Given the description of an element on the screen output the (x, y) to click on. 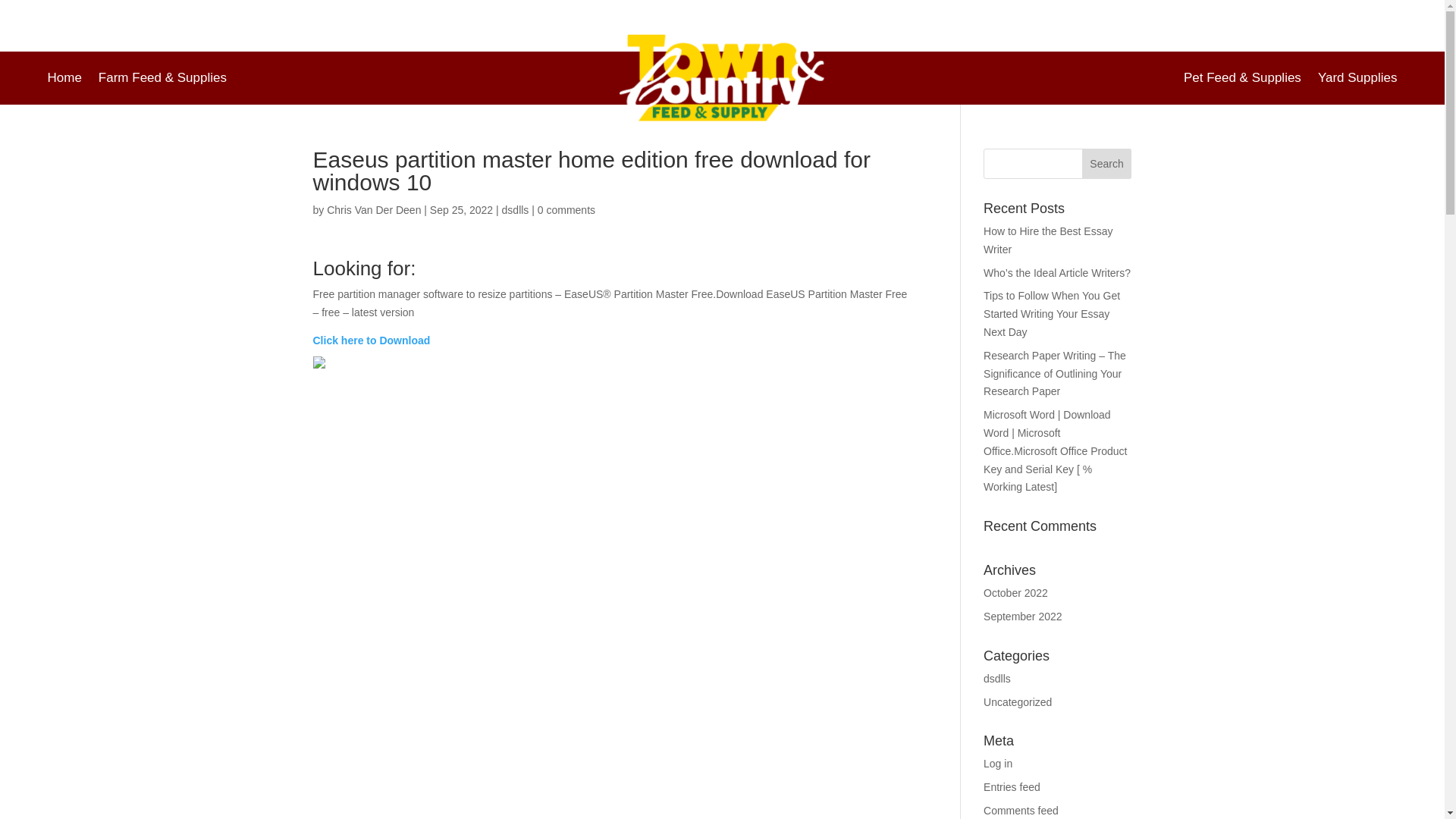
0 comments (566, 209)
dsdlls (515, 209)
Home (63, 80)
logo (722, 77)
Search (1106, 163)
Visit us on Facebook (145, 14)
Yard Supplies (1357, 80)
Chris Van Der Deen (373, 209)
250-342-9433 (879, 14)
Posts by Chris Van Der Deen (373, 209)
